Given the description of an element on the screen output the (x, y) to click on. 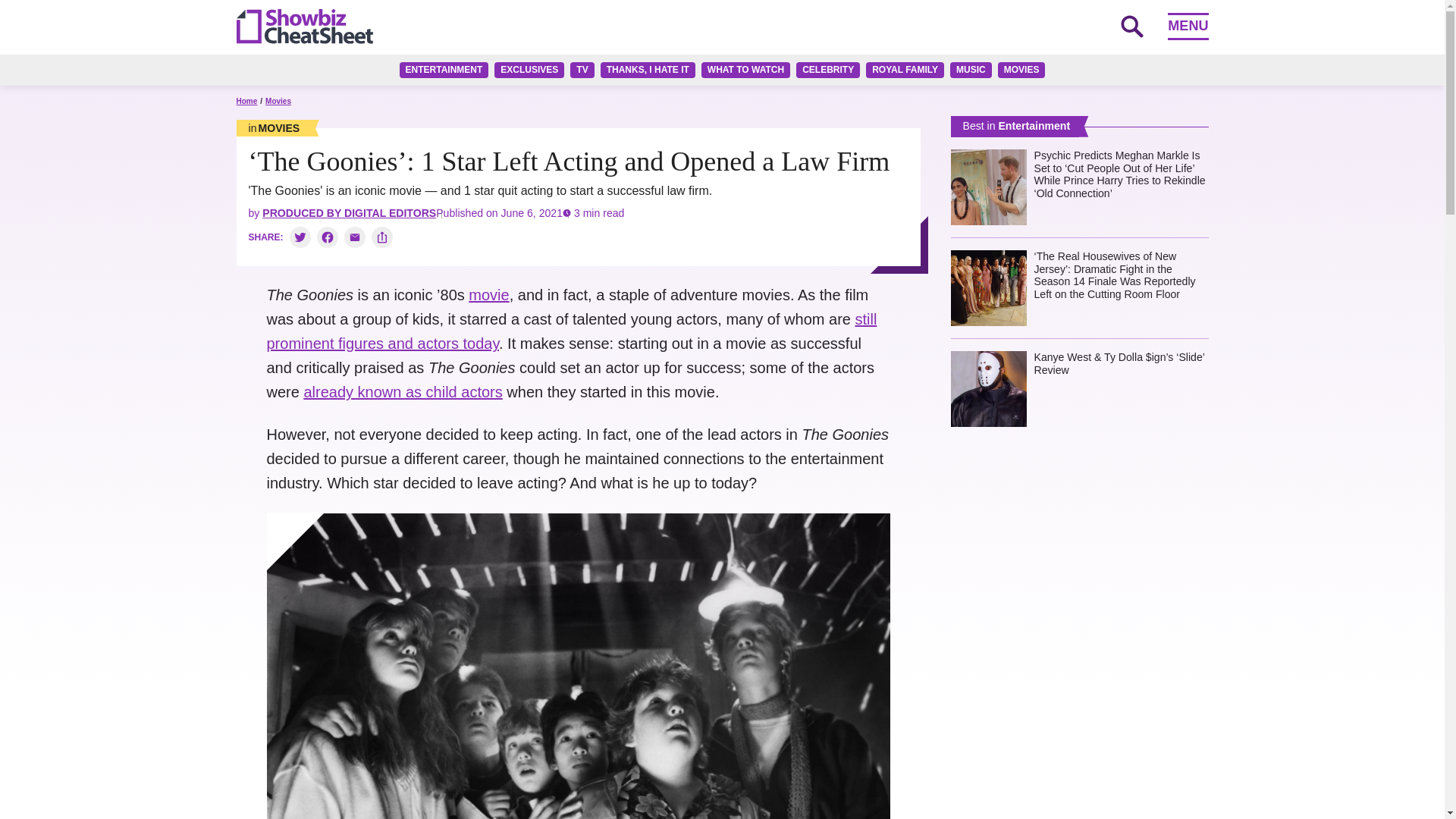
Copy link (382, 237)
ROYAL FAMILY (904, 69)
MOVIES (1021, 69)
Share on Facebook: (327, 237)
MENU (1187, 26)
movie (488, 294)
ENTERTAINMENT (443, 69)
EXCLUSIVES (529, 69)
Home (246, 101)
Expand Search (1131, 26)
Movies (277, 101)
PRODUCED BY DIGITAL EDITORS (348, 213)
CELEBRITY (828, 69)
Showbiz Cheat Sheet (303, 26)
TV (582, 69)
